Given the description of an element on the screen output the (x, y) to click on. 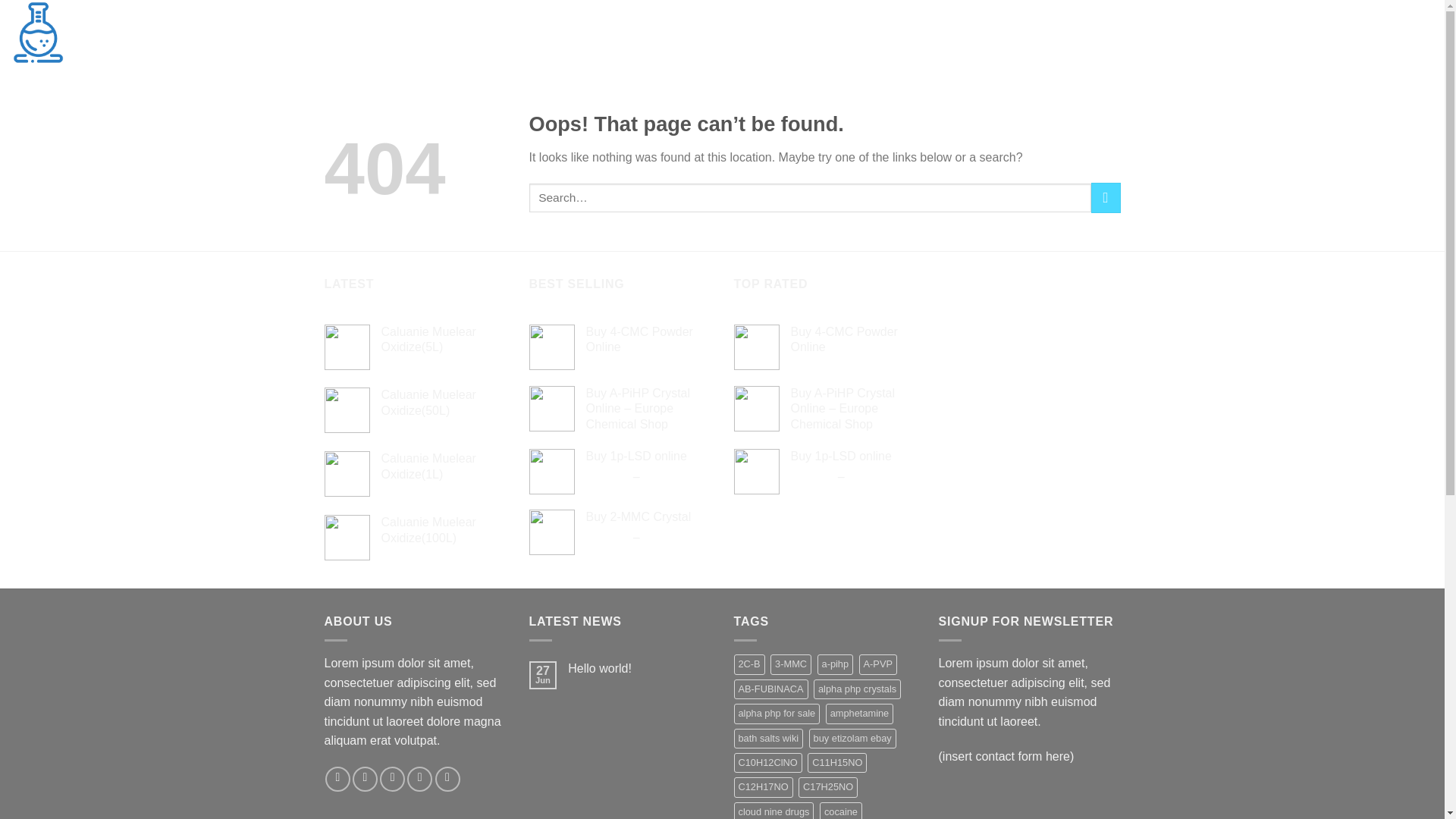
a-pihp (834, 664)
Buy 1p-LSD online (647, 456)
SPORT SHOP (240, 32)
Buy 2-MMC Crystal (647, 517)
Buy 4-CMC Powder Online (852, 340)
Follow on Facebook (337, 778)
amphetamine (859, 713)
Follow on Instagram (364, 778)
Buy 1p-LSD online (852, 456)
alpha php crystals (857, 689)
Cart (1387, 32)
LOGIN (1304, 32)
Hello world! (638, 667)
Follow on Twitter (392, 778)
3-MMC (790, 664)
